Given the description of an element on the screen output the (x, y) to click on. 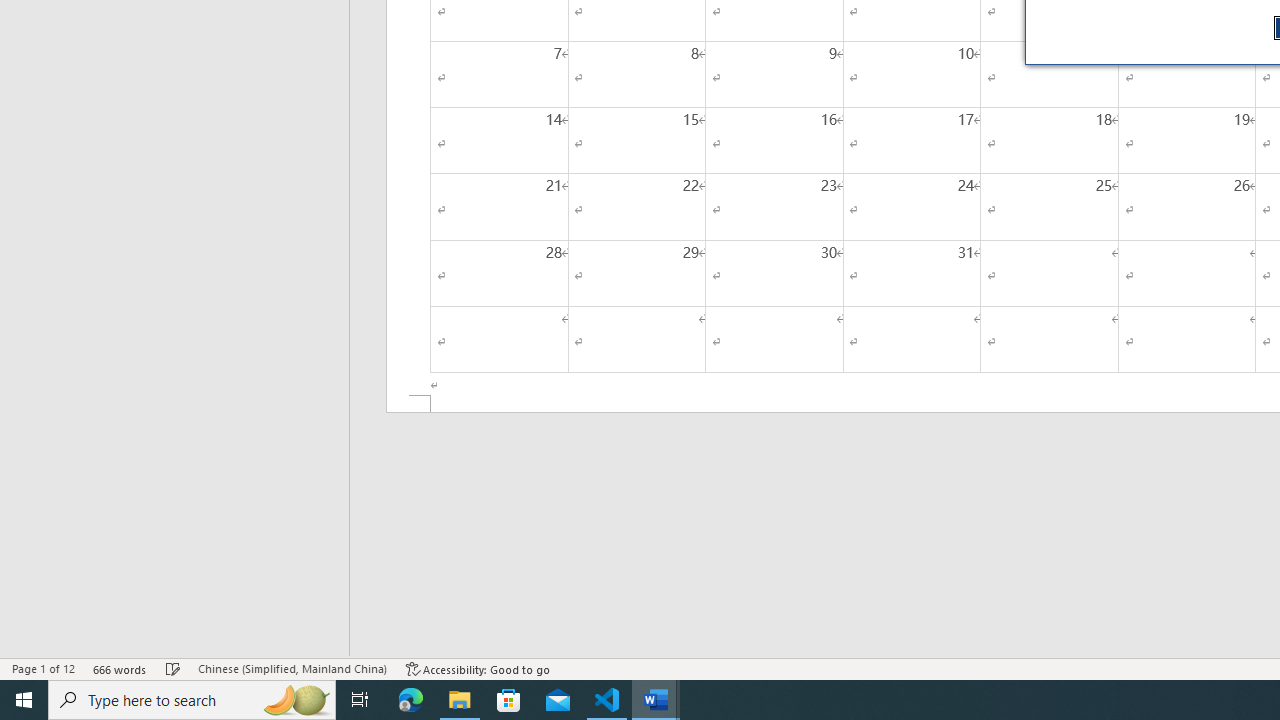
Page Number Page 1 of 12 (43, 668)
